Given the description of an element on the screen output the (x, y) to click on. 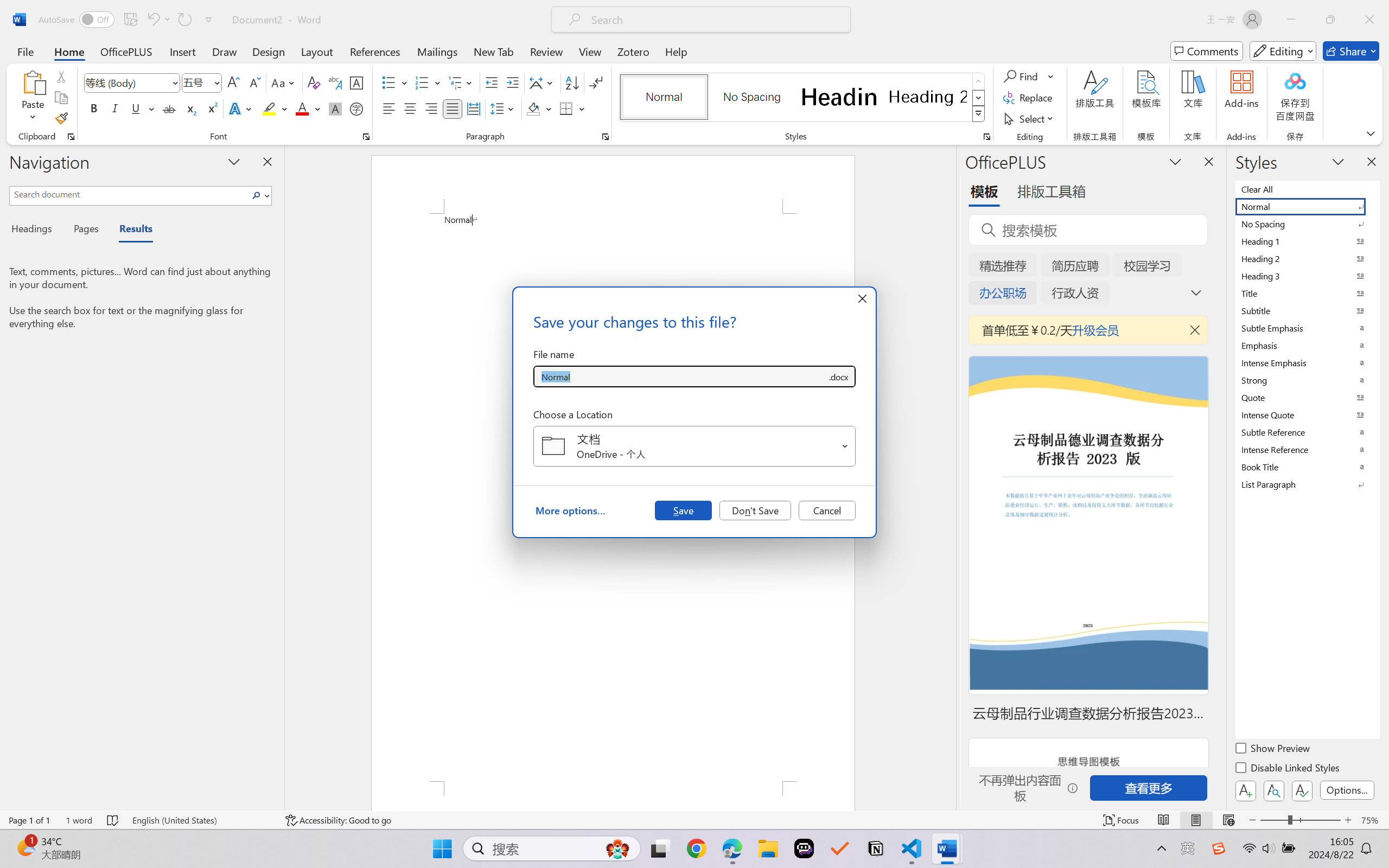
Pages (85, 229)
AutomationID: QuickStylesGallery (802, 97)
Phonetic Guide... (334, 82)
View (589, 51)
Customize Quick Access Toolbar (208, 19)
Text Highlight Color (274, 108)
Zotero (632, 51)
Intense Emphasis (1306, 362)
Styles... (986, 136)
Read Mode (1163, 819)
Zoom (1300, 819)
